Given the description of an element on the screen output the (x, y) to click on. 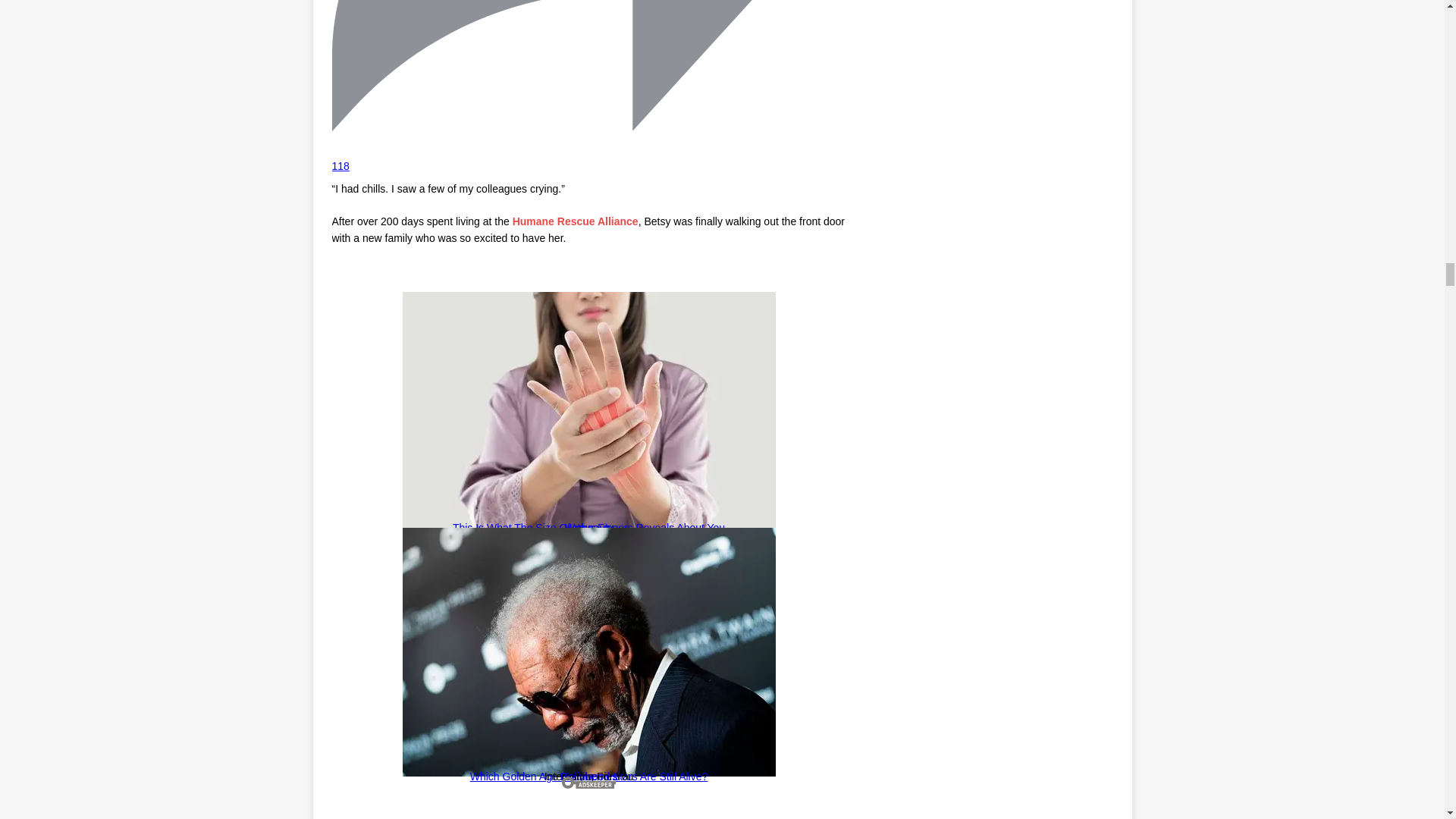
Humane Rescue Alliance (575, 221)
